Given the description of an element on the screen output the (x, y) to click on. 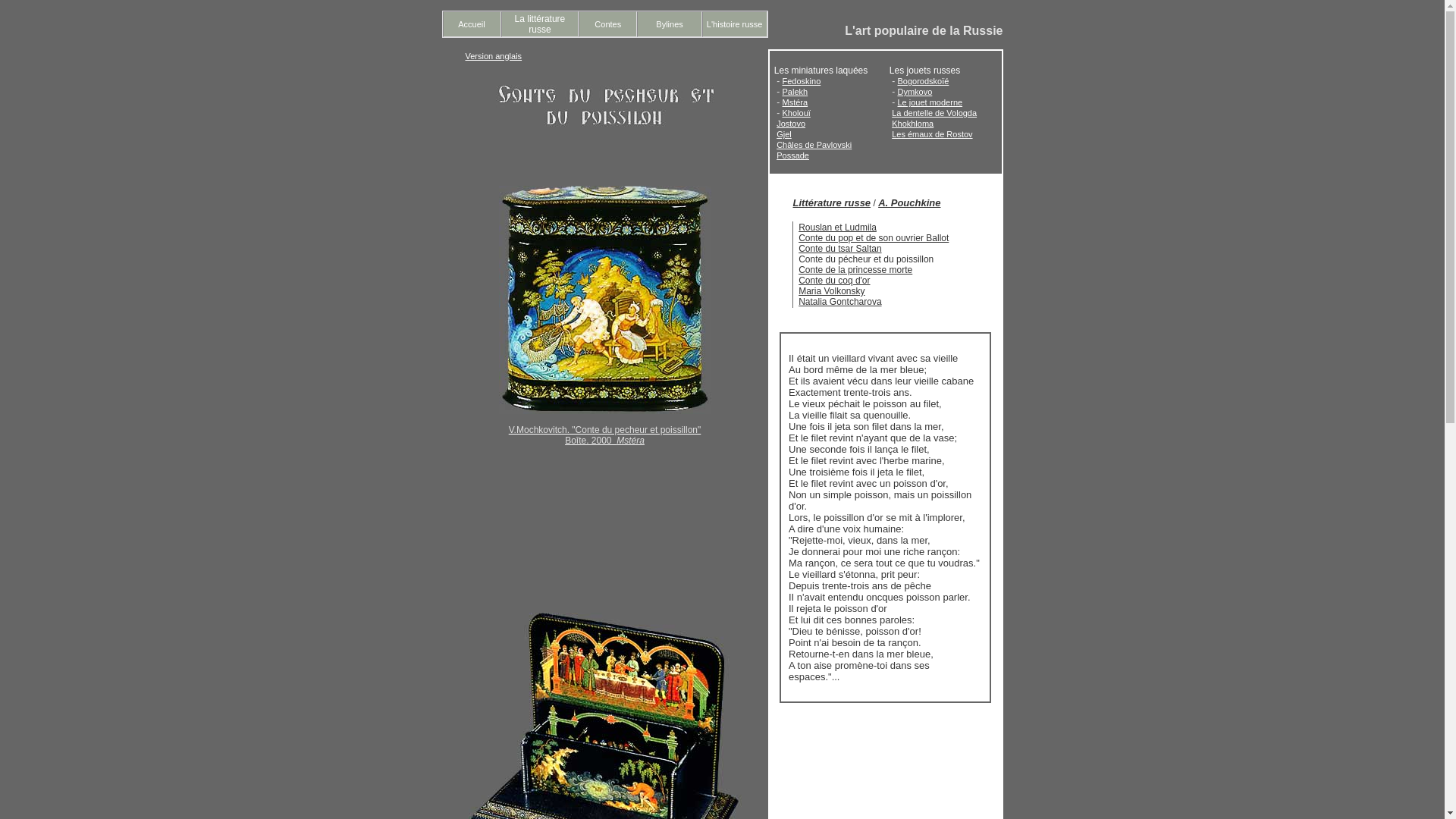
Accueil Element type: text (471, 23)
Khokhloma Element type: text (912, 123)
Palekh Element type: text (795, 91)
Gjel Element type: text (783, 133)
Possade Element type: text (792, 155)
A. Pouchkine Element type: text (909, 202)
Conte du coq d'or Element type: text (833, 280)
Bylines Element type: text (668, 23)
Natalia Gontcharova Element type: text (839, 301)
Rouslan et Ludmila Element type: text (837, 227)
Le jouet moderne Element type: text (930, 101)
L'histoire russe Element type: text (734, 23)
Maria Volkonsky Element type: text (831, 290)
Contes Element type: text (607, 23)
Dymkovo Element type: text (914, 91)
Fedoskino Element type: text (801, 80)
La dentelle de Vologda Element type: text (933, 112)
Conte de la princesse morte Element type: text (855, 269)
Version anglais Element type: text (493, 55)
Jostovo Element type: text (790, 123)
Conte du tsar Saltan Element type: text (839, 248)
Conte du pop et de son ouvrier Ballot Element type: text (873, 237)
